Given the description of an element on the screen output the (x, y) to click on. 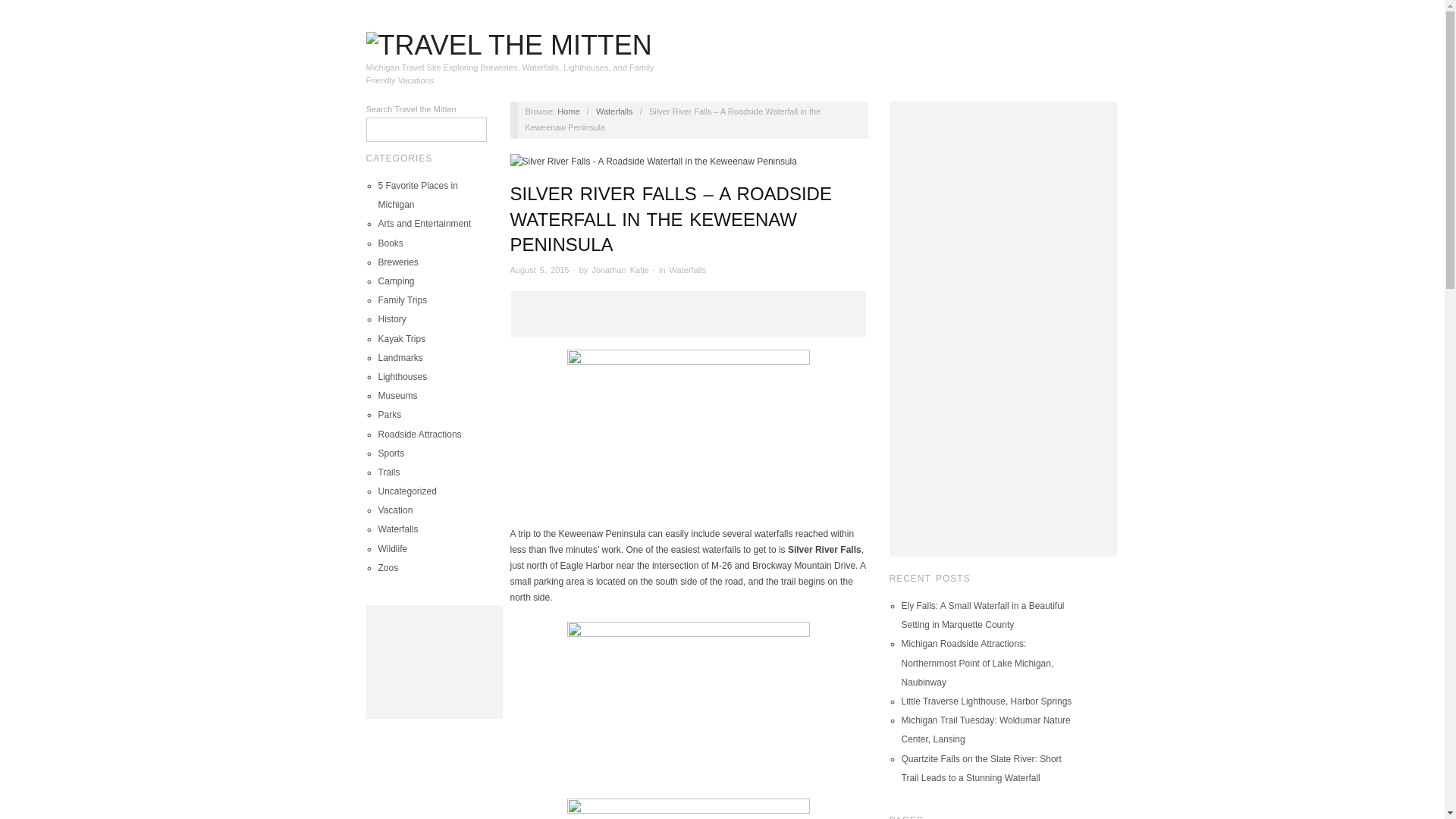
Waterfalls (614, 111)
Books (390, 243)
Waterfalls (397, 529)
Arts and Entertainment (423, 223)
Travel the Mitten (507, 42)
Landmarks (399, 357)
Museums (396, 395)
Roadside Attractions (419, 434)
Uncategorized (406, 491)
Waterfalls (614, 111)
